Given the description of an element on the screen output the (x, y) to click on. 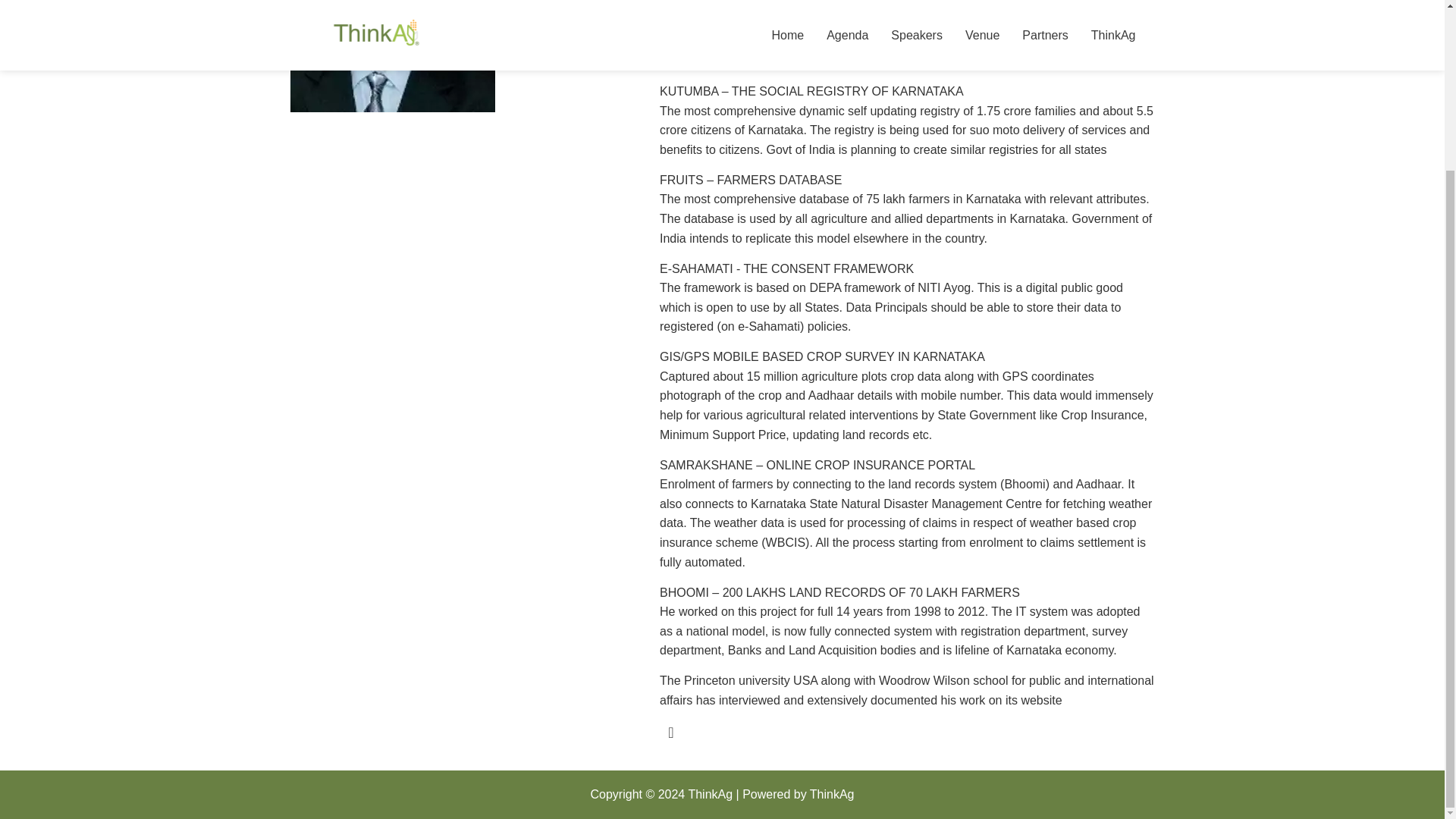
linkedin (670, 732)
